Given the description of an element on the screen output the (x, y) to click on. 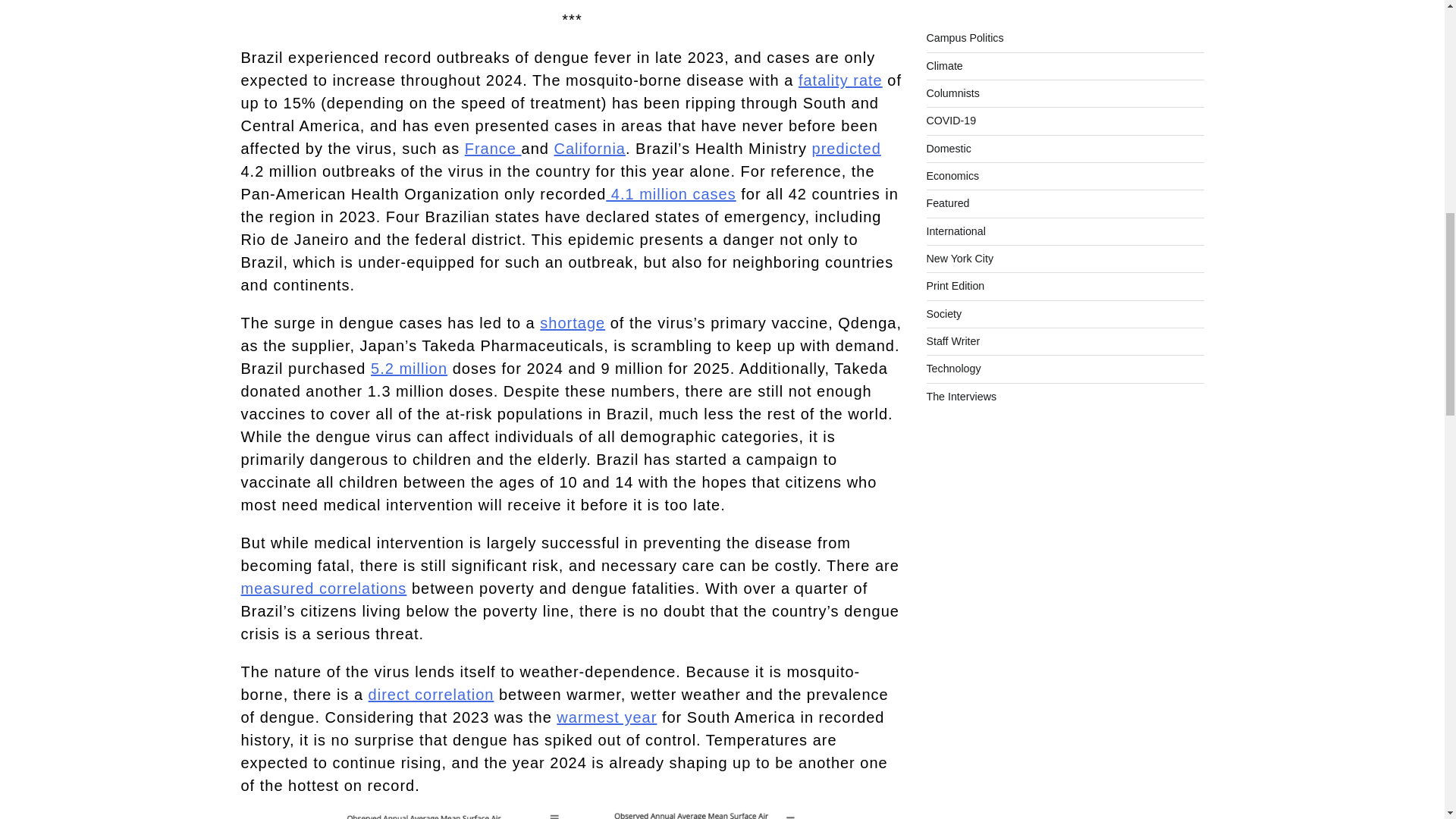
warmest year (606, 717)
measured correlations (324, 588)
shortage (572, 322)
5.2 million (408, 368)
direct correlation (431, 694)
California (588, 148)
France (492, 148)
fatality rate (839, 80)
4.1 million cases (670, 193)
predicted (846, 148)
